Given the description of an element on the screen output the (x, y) to click on. 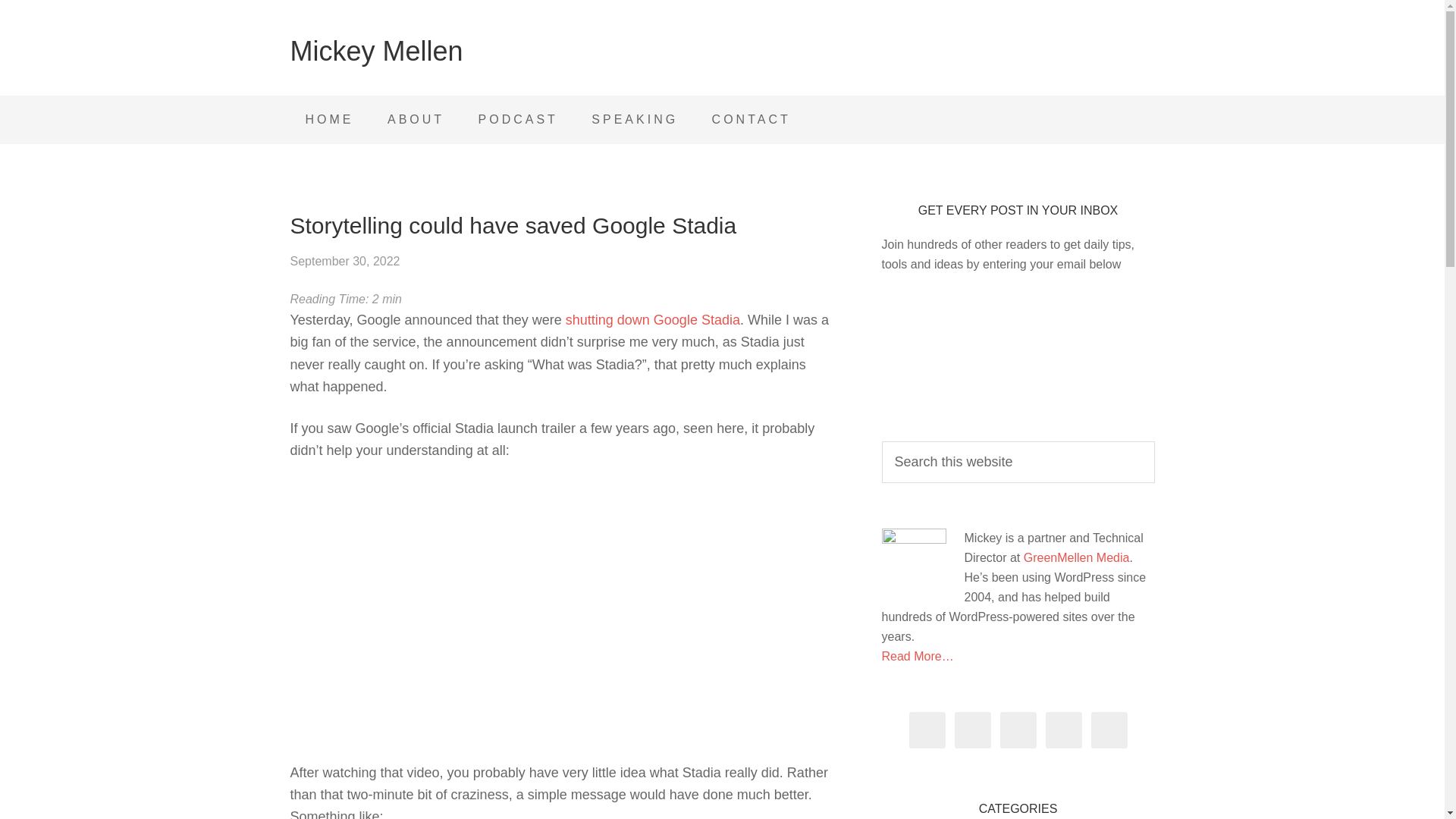
GreenMellen Media (1076, 557)
ABOUT (416, 119)
SPEAKING (634, 119)
CONTACT (751, 119)
HOME (328, 119)
shutting down Google Stadia (652, 319)
Mickey Mellen (376, 51)
